Given the description of an element on the screen output the (x, y) to click on. 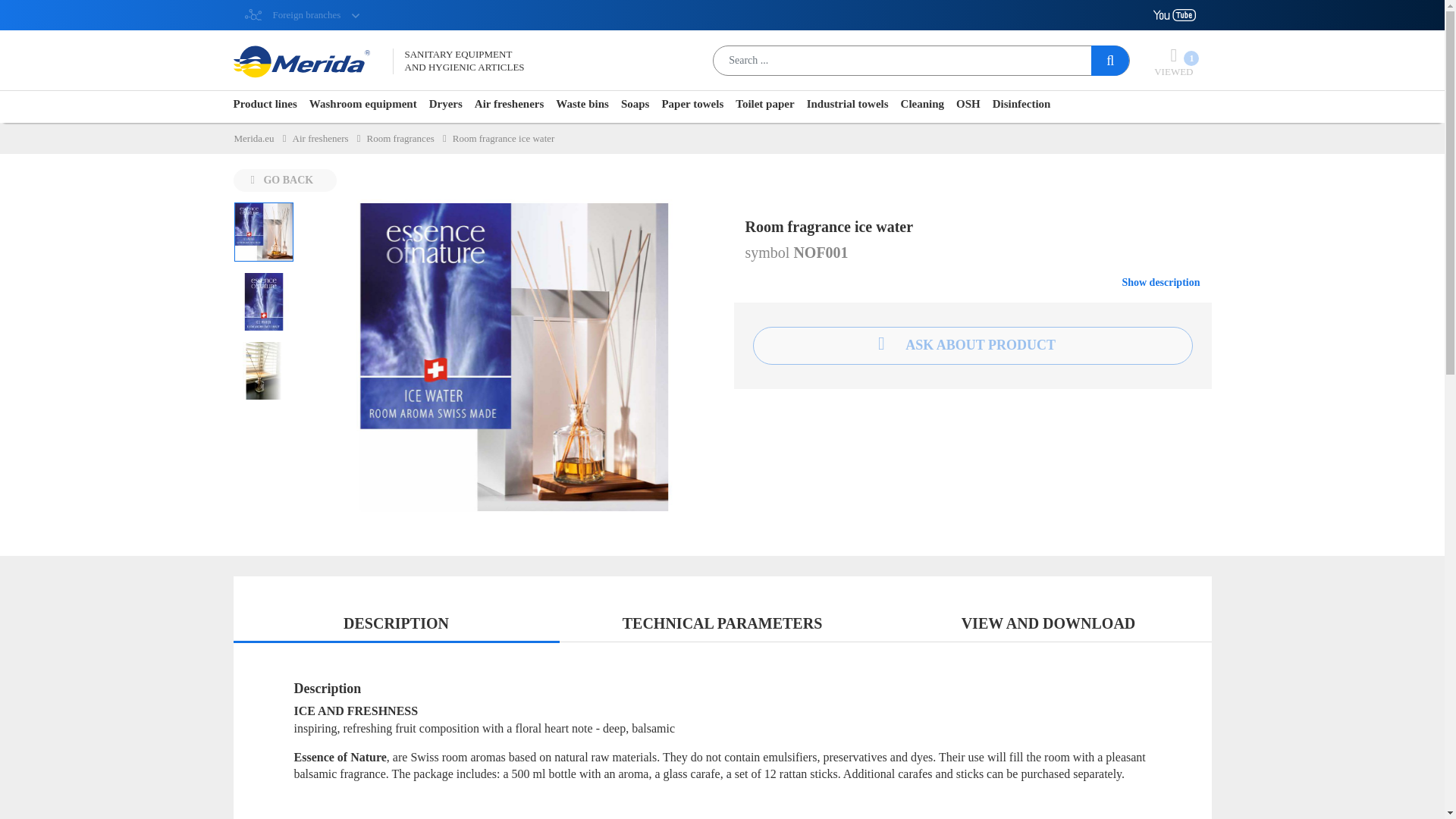
Industrial towels (847, 105)
Waste bins (1173, 61)
Air fresheners (582, 105)
Product lines (329, 137)
Washroom equipment (264, 105)
Foreign branches (362, 105)
Room fragrance ice water (292, 6)
Soaps (514, 357)
Youtube (635, 105)
